Given the description of an element on the screen output the (x, y) to click on. 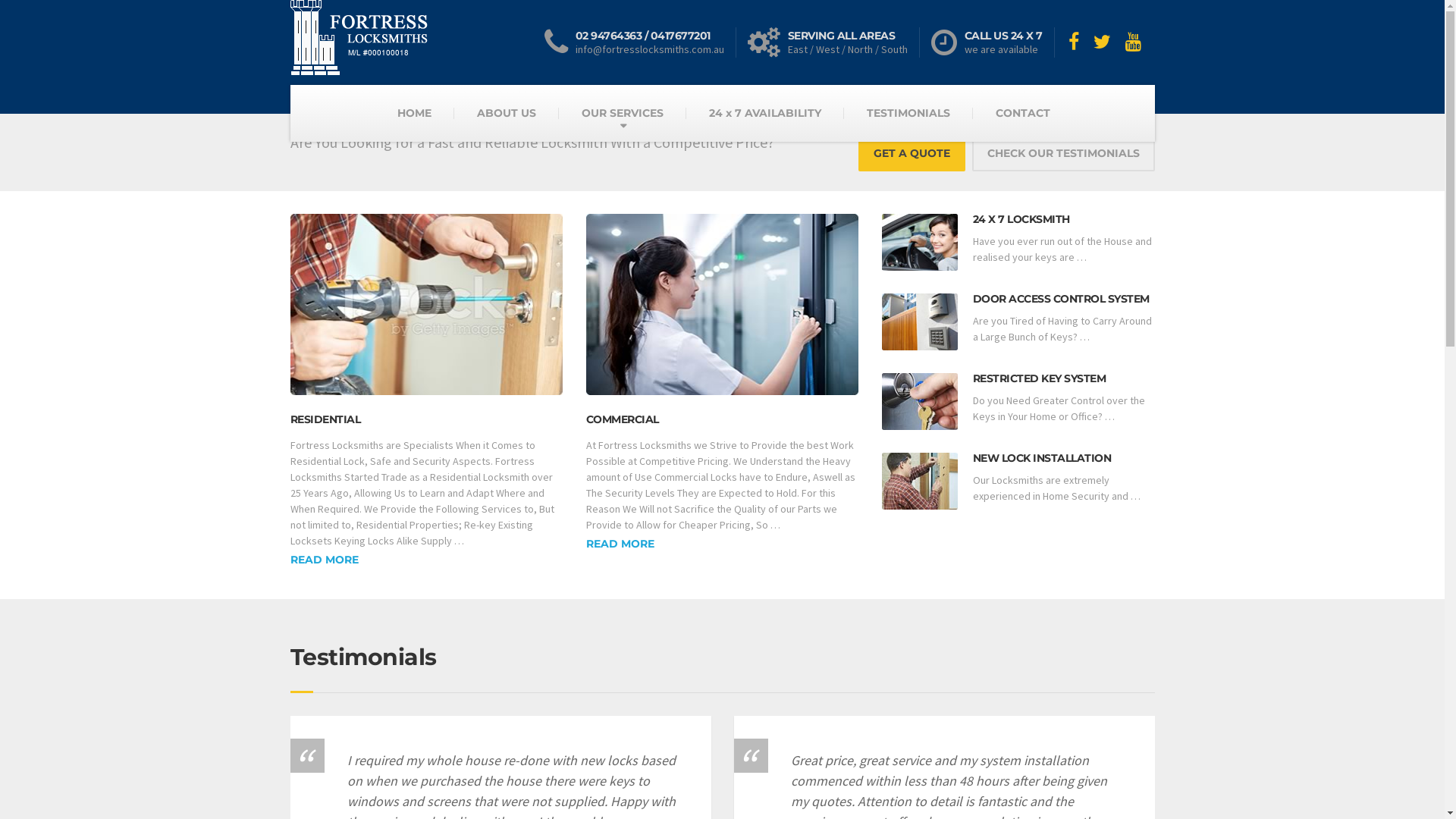
CHECK OUR TESTIMONIALS Element type: text (1063, 152)
TESTIMONIALS Element type: text (908, 112)
DOOR ACCESS CONTROL SYSTEM Element type: text (1060, 298)
READ MORE Element type: text (619, 544)
NEW LOCK INSTALLATION Element type: text (1041, 457)
READ MORE Element type: text (323, 559)
OUR SERVICES Element type: text (622, 112)
RESIDENTIAL Element type: text (324, 419)
COMMERCIAL Element type: text (621, 419)
CONTACT Element type: text (1022, 112)
RESTRICTED KEY SYSTEM Element type: text (1038, 378)
GET A QUOTE Element type: text (911, 152)
ABOUT US Element type: text (506, 112)
24 X 7 LOCKSMITH Element type: text (1020, 218)
HOME Element type: text (414, 112)
24 x 7 AVAILABILITY Element type: text (765, 112)
